Given the description of an element on the screen output the (x, y) to click on. 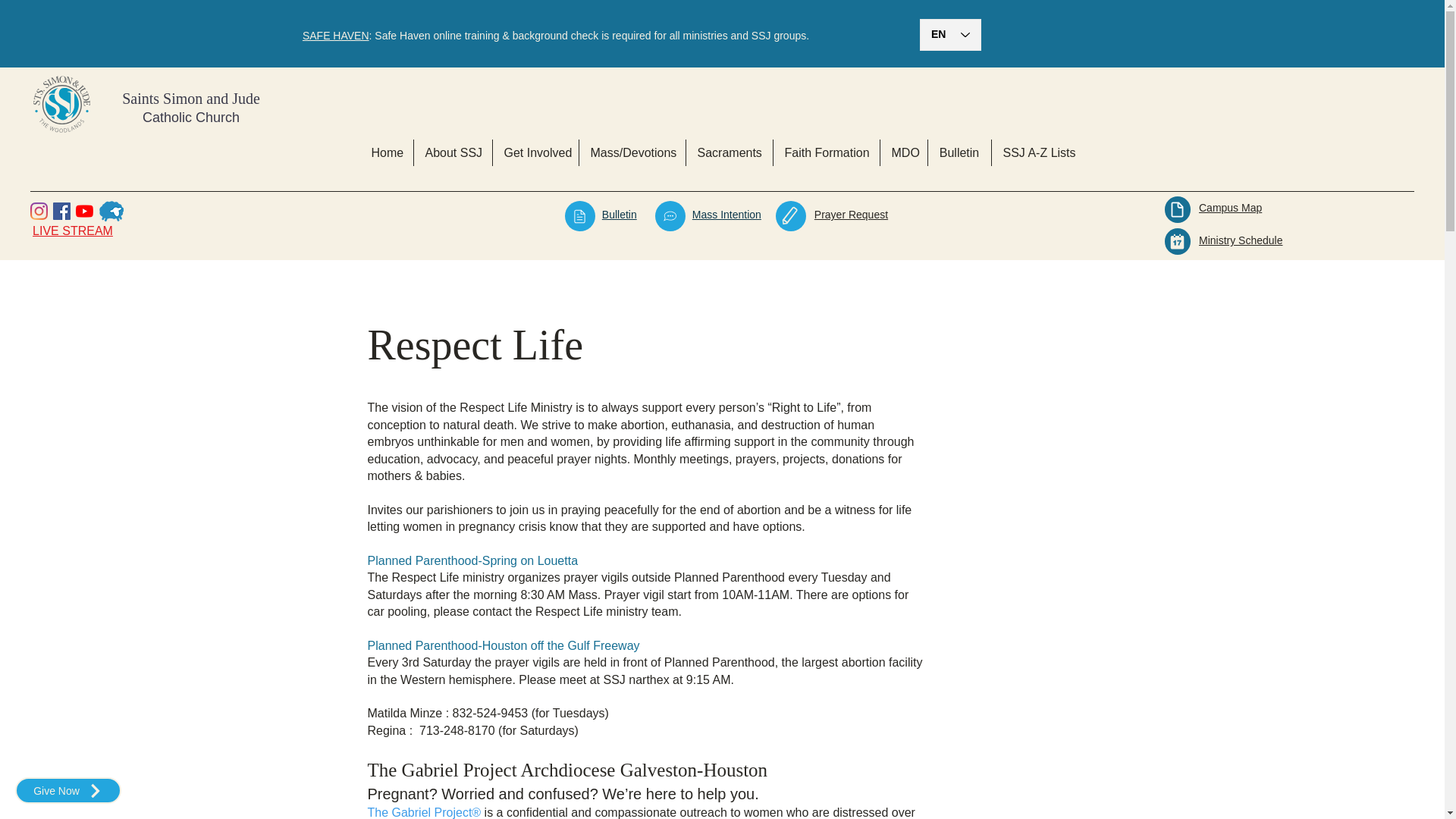
Faith Formation (826, 152)
SAFE HAVEN (335, 35)
Catholic Church (191, 117)
Saints Simon and Jude (191, 98)
About SSJ (452, 152)
SSJ A-Z Lists (1038, 152)
Sacraments (728, 152)
Bulletin (959, 152)
Get Involved (535, 152)
MDO (902, 152)
